Given the description of an element on the screen output the (x, y) to click on. 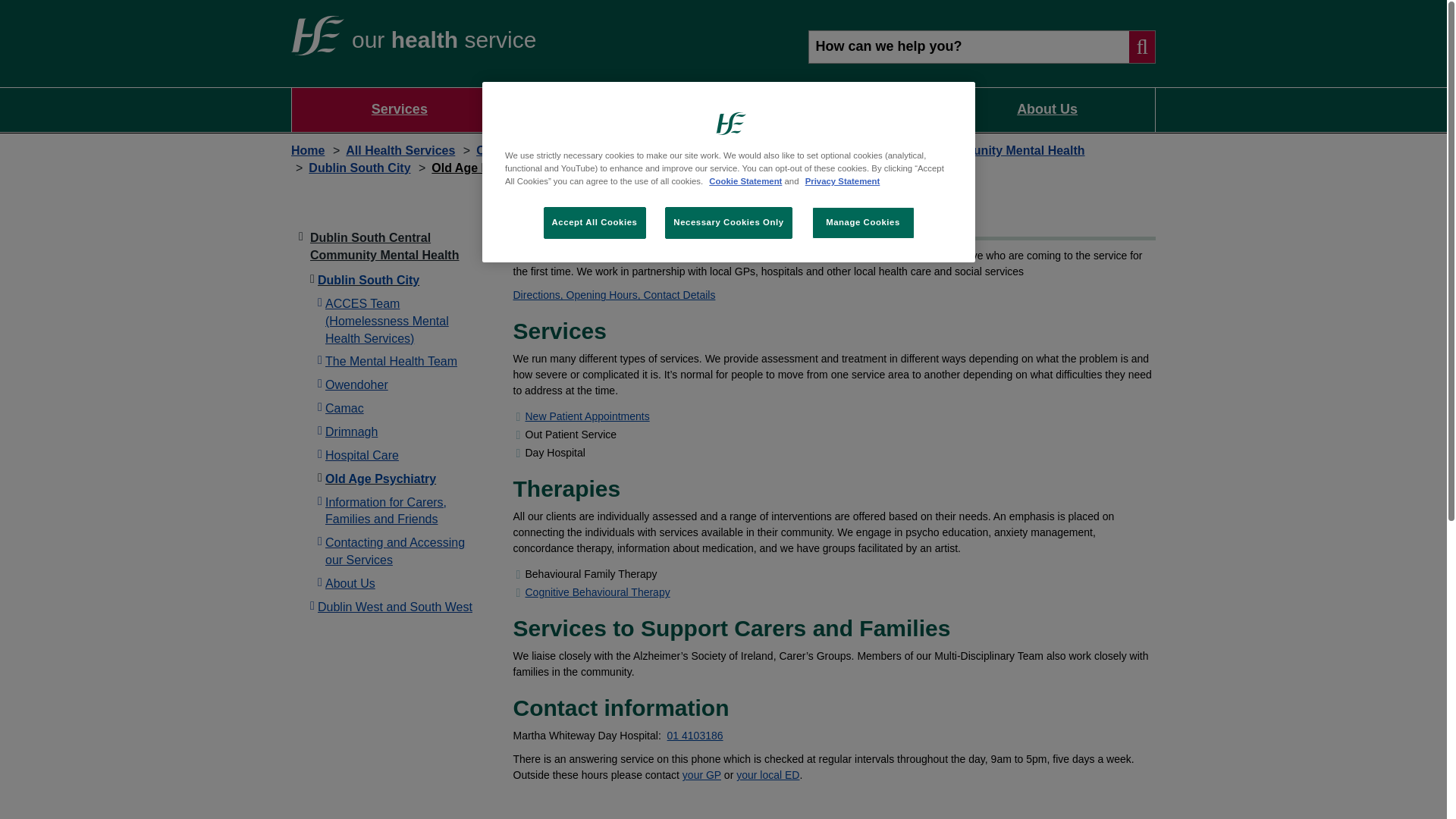
Health A to Z (615, 109)
Services (399, 109)
Search (981, 47)
Staff and Careers (831, 109)
